Given the description of an element on the screen output the (x, y) to click on. 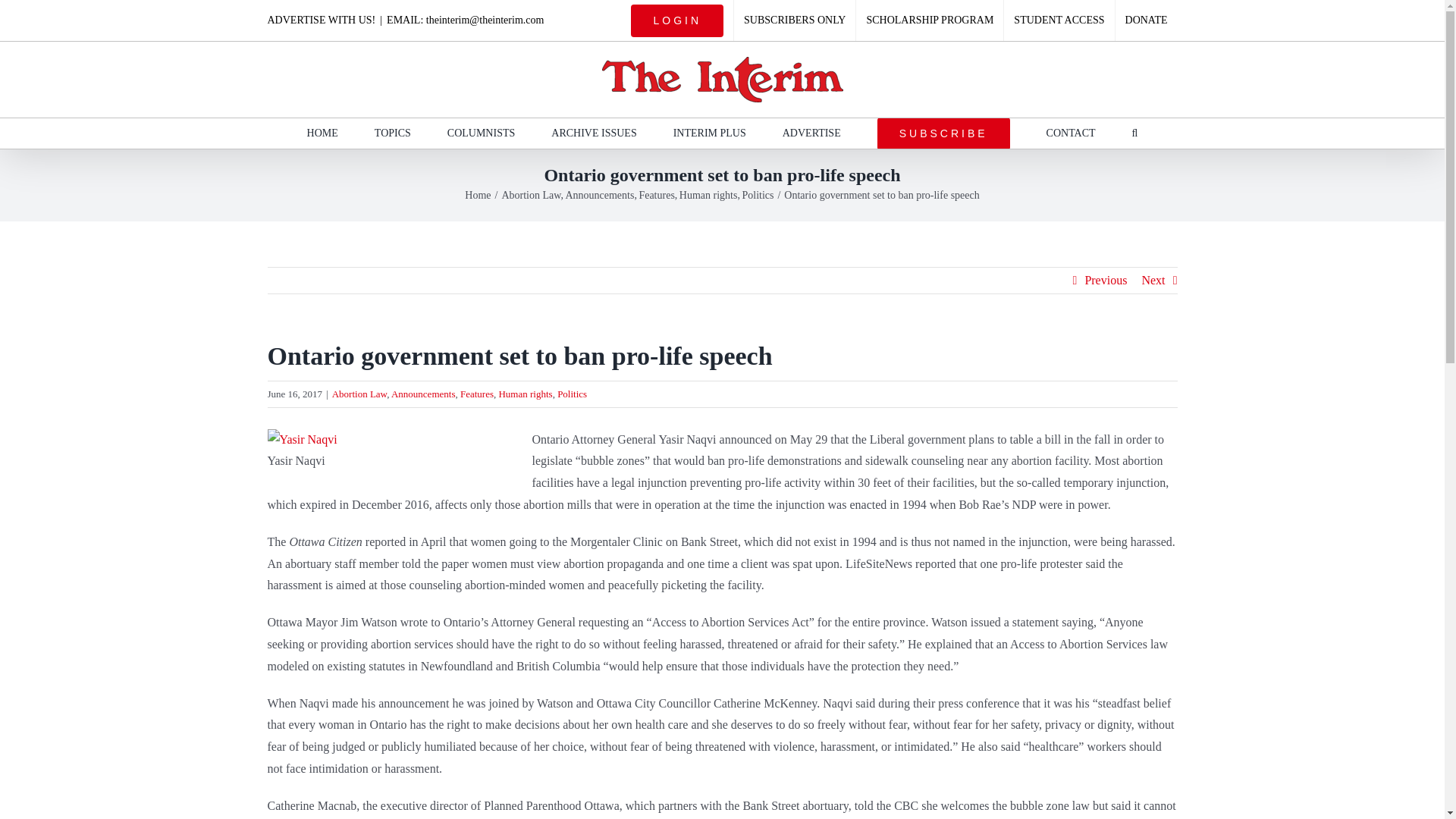
ARCHIVE ISSUES (593, 132)
SUBSCRIBE (943, 132)
SCHOLARSHIP PROGRAM (929, 20)
Features (656, 194)
Home (477, 194)
ADVERTISE (812, 132)
Features (476, 393)
Politics (571, 393)
INTERIM PLUS (708, 132)
Next (1152, 280)
